Given the description of an element on the screen output the (x, y) to click on. 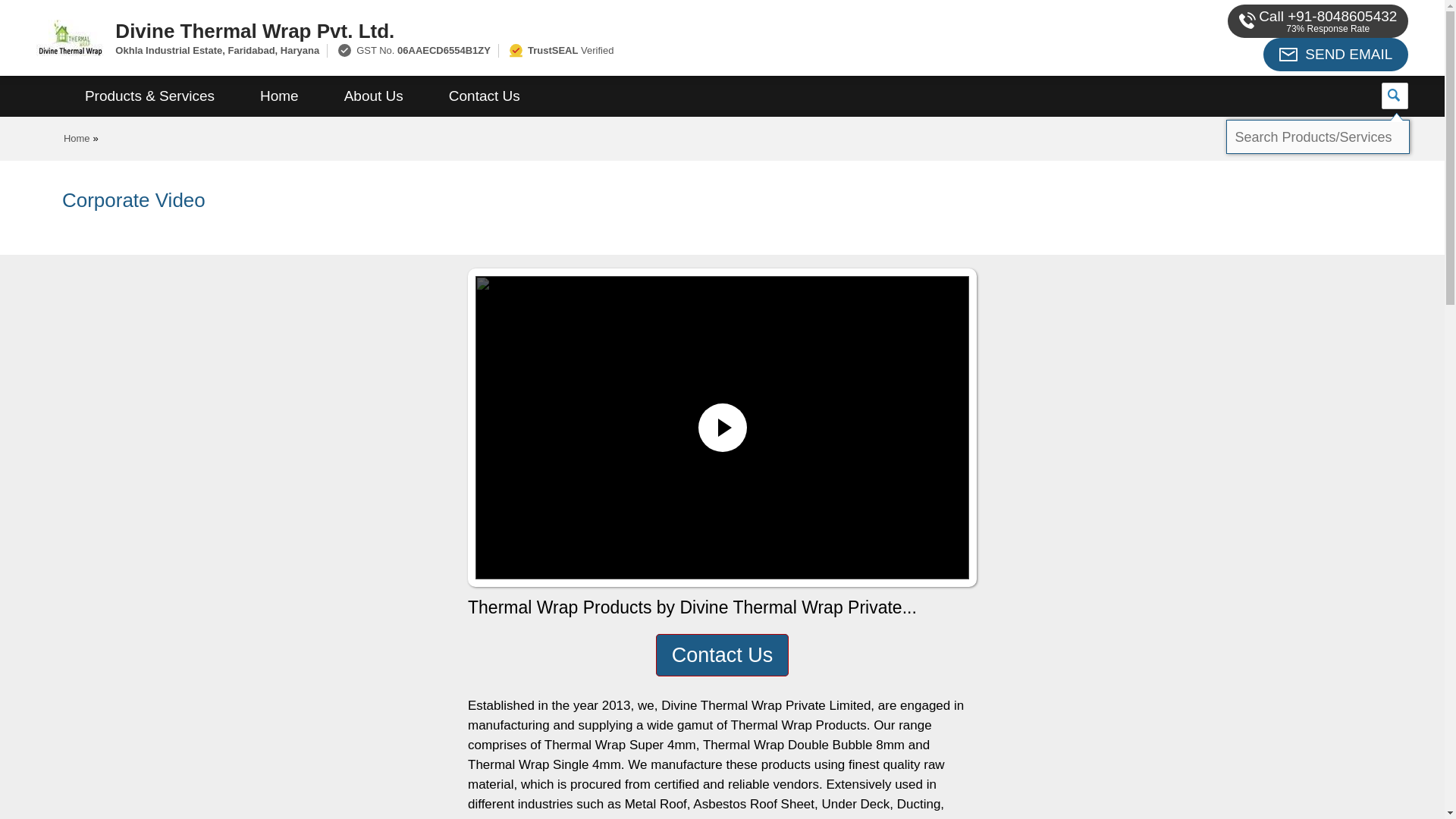
Contact Us (484, 96)
Home (279, 96)
About Us (373, 96)
Home (77, 138)
Divine Thermal Wrap Pvt. Ltd. (552, 31)
